Given the description of an element on the screen output the (x, y) to click on. 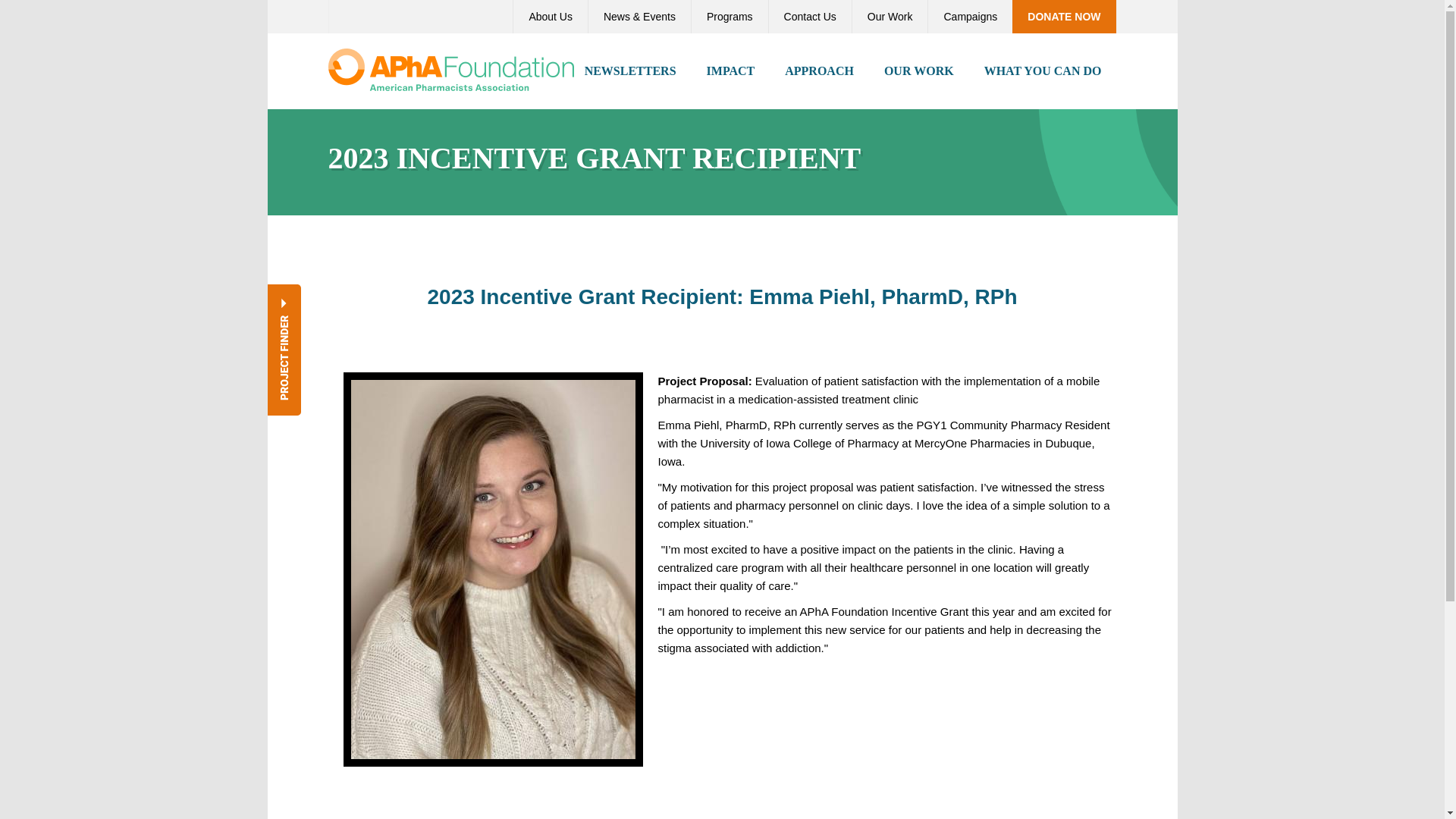
OUR WORK (919, 71)
Donate Now (1063, 16)
APPROACH (819, 71)
Newsletters (630, 71)
NEWSLETTERS (630, 71)
Approach (819, 71)
About Us (550, 16)
DONATE NOW (1063, 16)
What You Can Do (1042, 71)
WHAT YOU CAN DO (1042, 71)
